Given the description of an element on the screen output the (x, y) to click on. 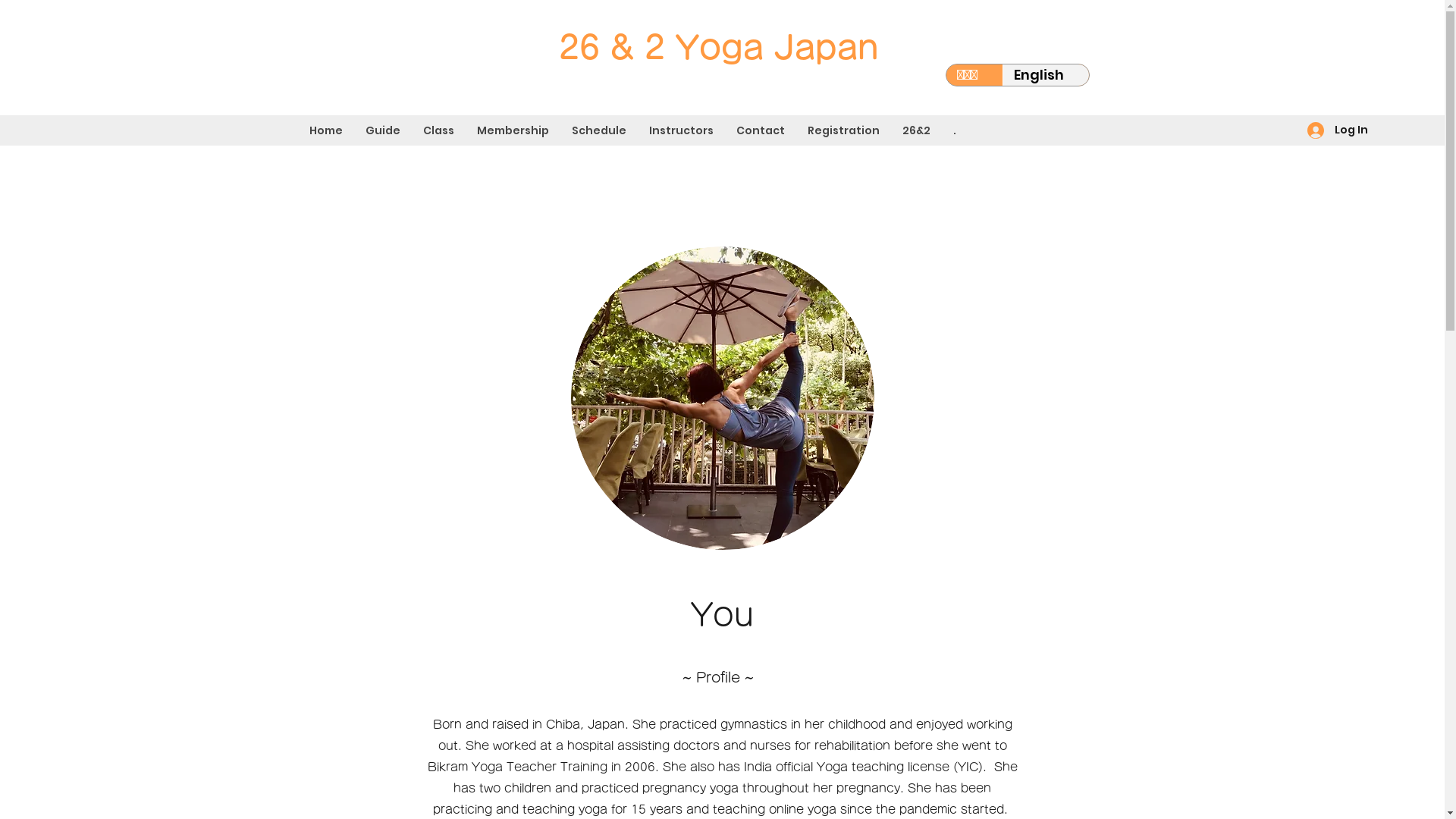
. Element type: text (954, 130)
Log In Element type: text (1337, 130)
Instructors Element type: text (680, 130)
Schedule Element type: text (598, 130)
26&2 Element type: text (916, 130)
Contact Element type: text (760, 130)
Guide Element type: text (382, 130)
Registration Element type: text (843, 130)
Class Element type: text (438, 130)
Membership Element type: text (512, 130)
English Element type: text (1045, 74)
Home Element type: text (326, 130)
